Given the description of an element on the screen output the (x, y) to click on. 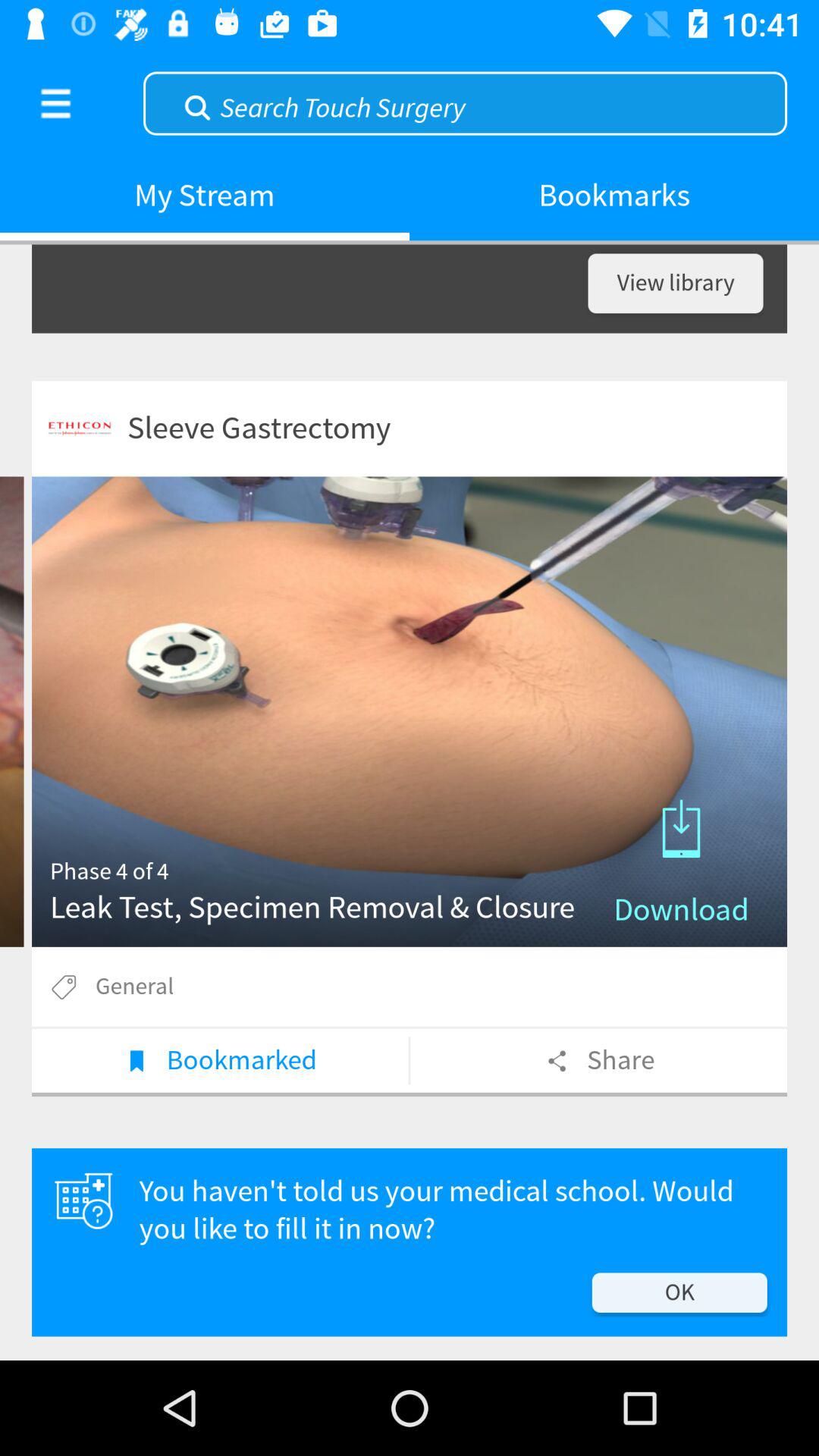
search (465, 102)
